Given the description of an element on the screen output the (x, y) to click on. 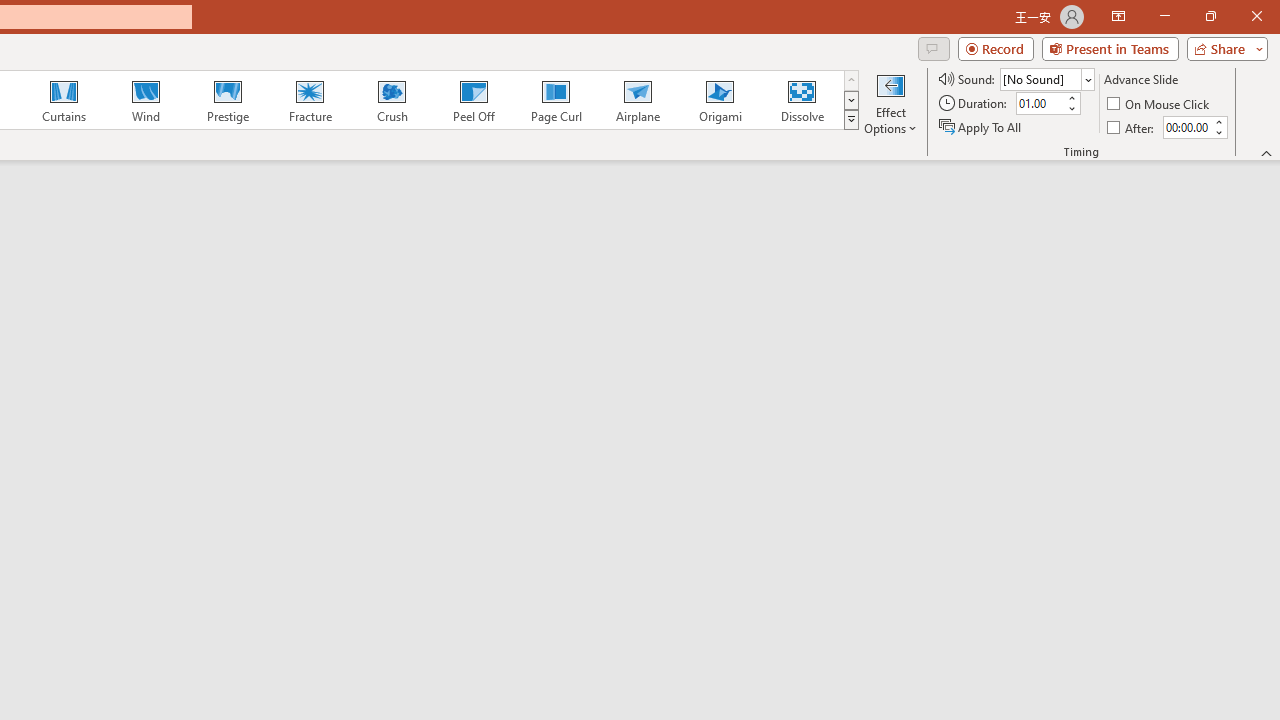
On Mouse Click (1159, 103)
